Given the description of an element on the screen output the (x, y) to click on. 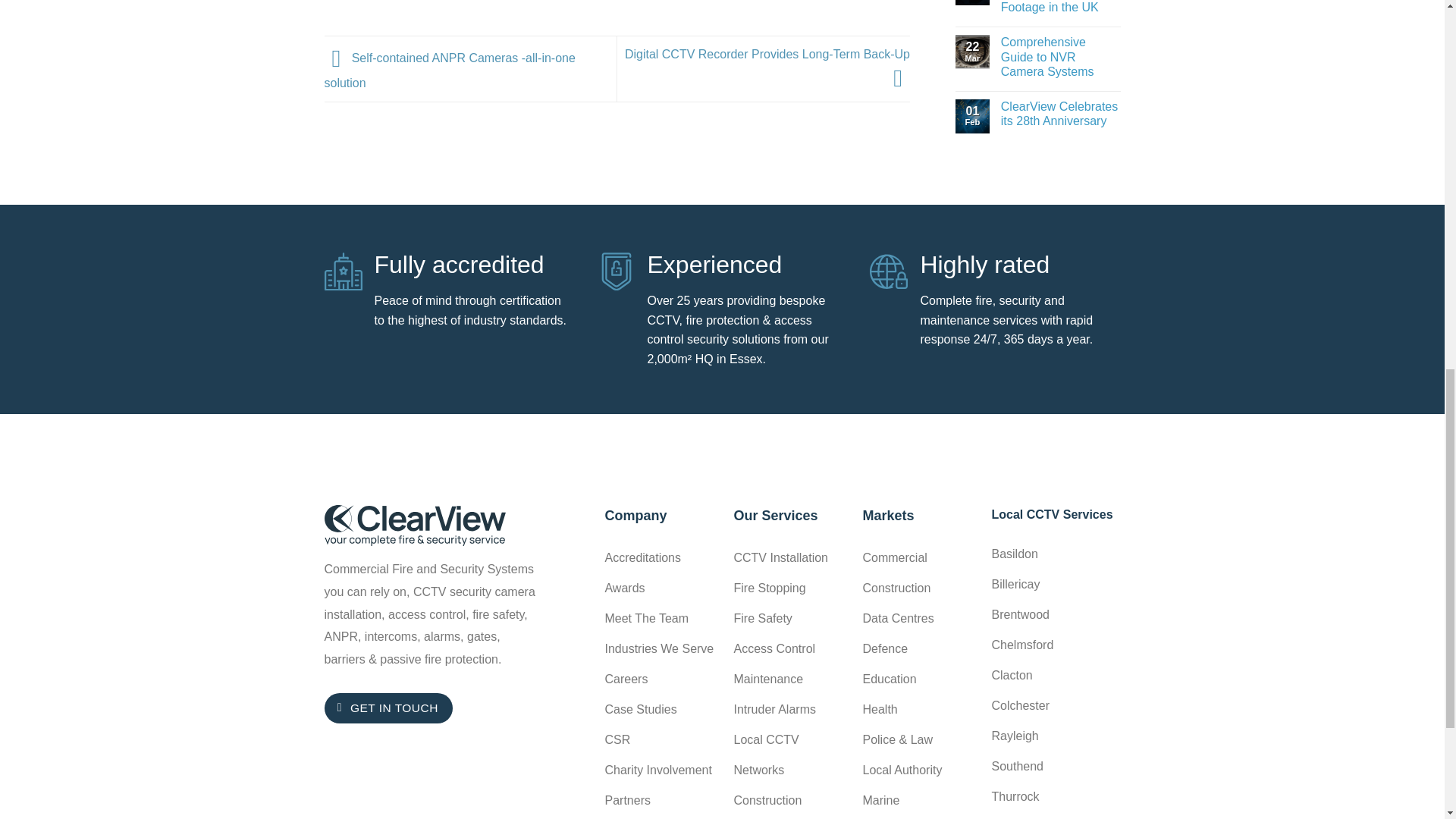
Comprehensive Guide to NVR Camera Systems (1061, 56)
A Guide to Requesting CCTV Footage in the UK (1061, 7)
ClearView Celebrates its 28th Anniversary (1061, 113)
